Given the description of an element on the screen output the (x, y) to click on. 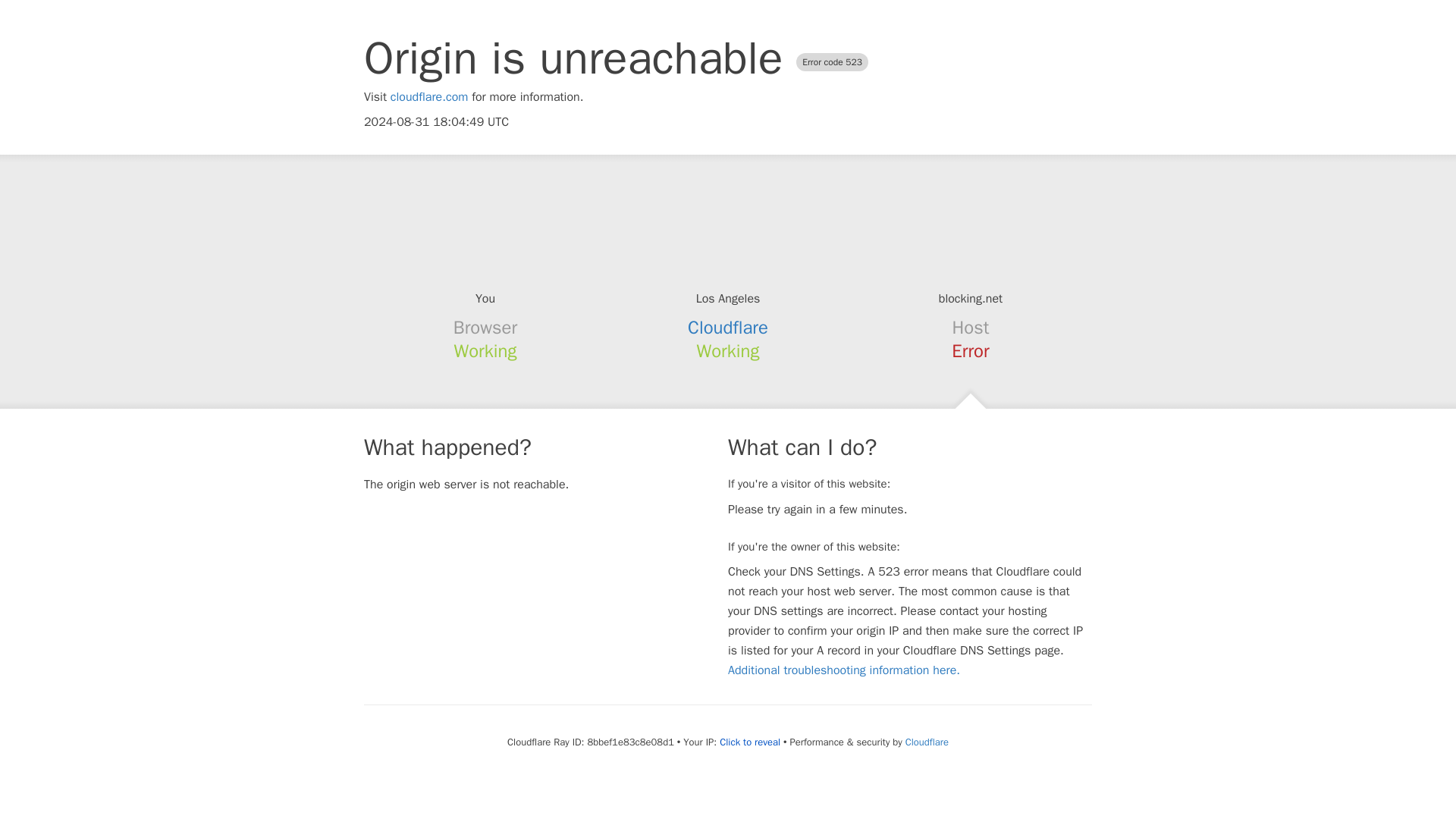
Cloudflare (927, 741)
Click to reveal (749, 742)
Additional troubleshooting information here. (843, 670)
Cloudflare (727, 327)
cloudflare.com (429, 96)
